Given the description of an element on the screen output the (x, y) to click on. 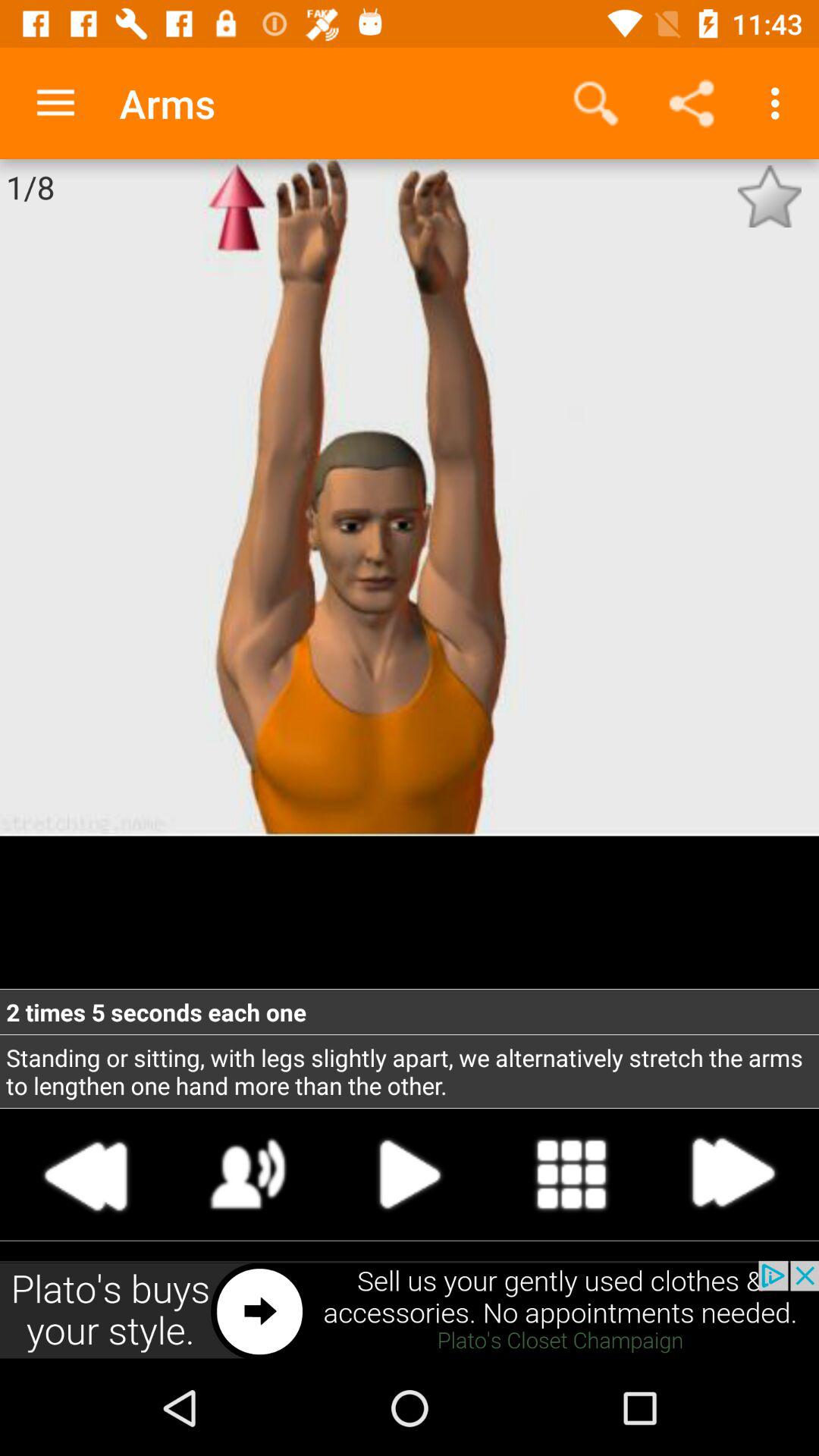
open advertisement (409, 1310)
